Given the description of an element on the screen output the (x, y) to click on. 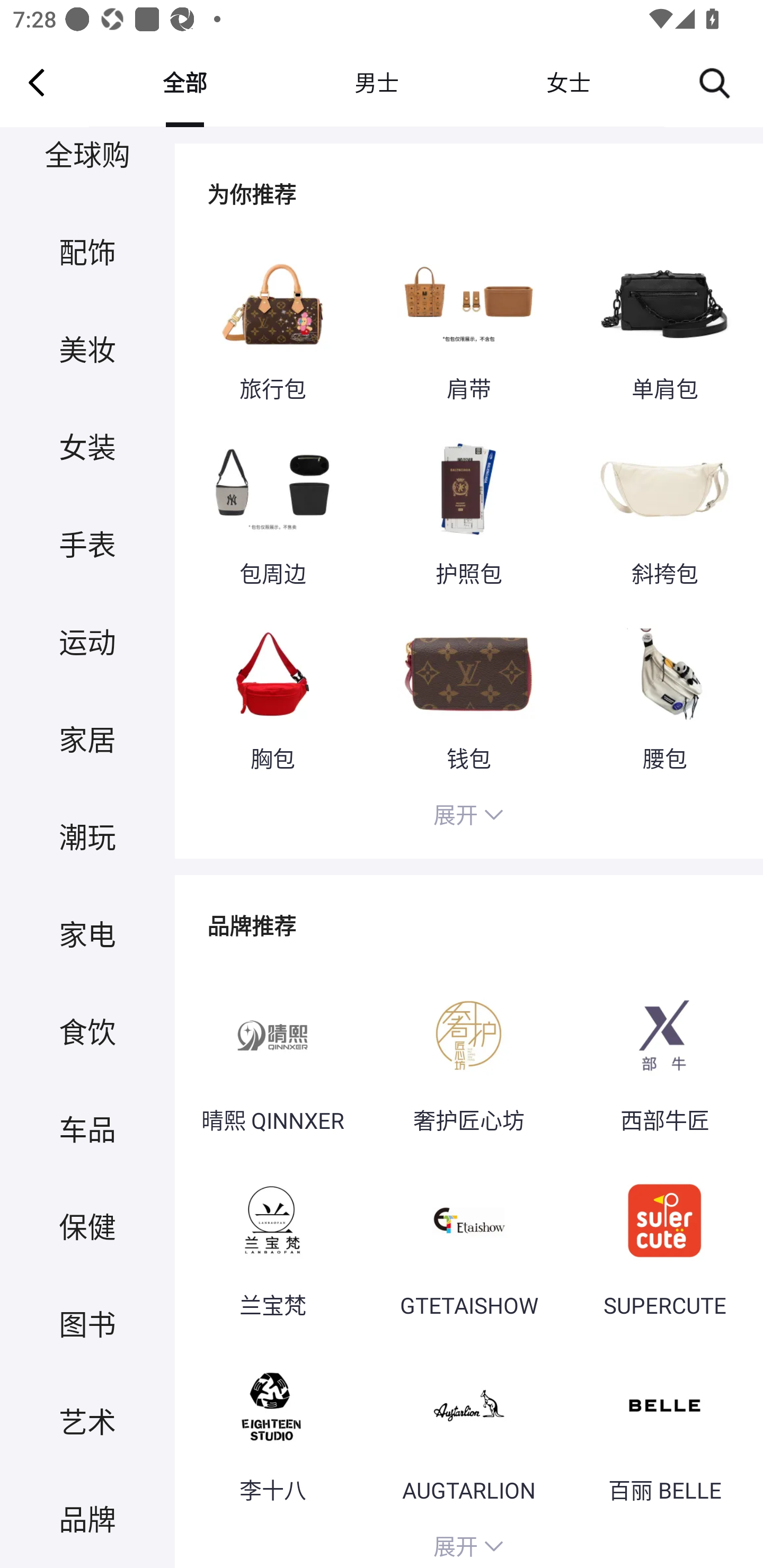
Navigate up (36, 82)
全部 (184, 82)
男士 (376, 82)
女士 (568, 82)
旅行包 (272, 325)
肩带 (468, 325)
单肩包 (664, 325)
包周边 (272, 510)
护照包 (468, 510)
斜挎包 (664, 510)
胸包 (272, 694)
钱包 (468, 694)
腰包 (664, 694)
展开  (468, 817)
晴熙 QINNXER (272, 1056)
奢护匠心坊 (468, 1056)
西部牛匠 (664, 1056)
兰宝梵 (272, 1241)
GTETAISHOW (468, 1241)
SUPERCUTE (664, 1241)
李十八 (272, 1426)
AUGTARLION (468, 1426)
百丽 BELLE (664, 1426)
展开  (468, 1543)
